Given the description of an element on the screen output the (x, y) to click on. 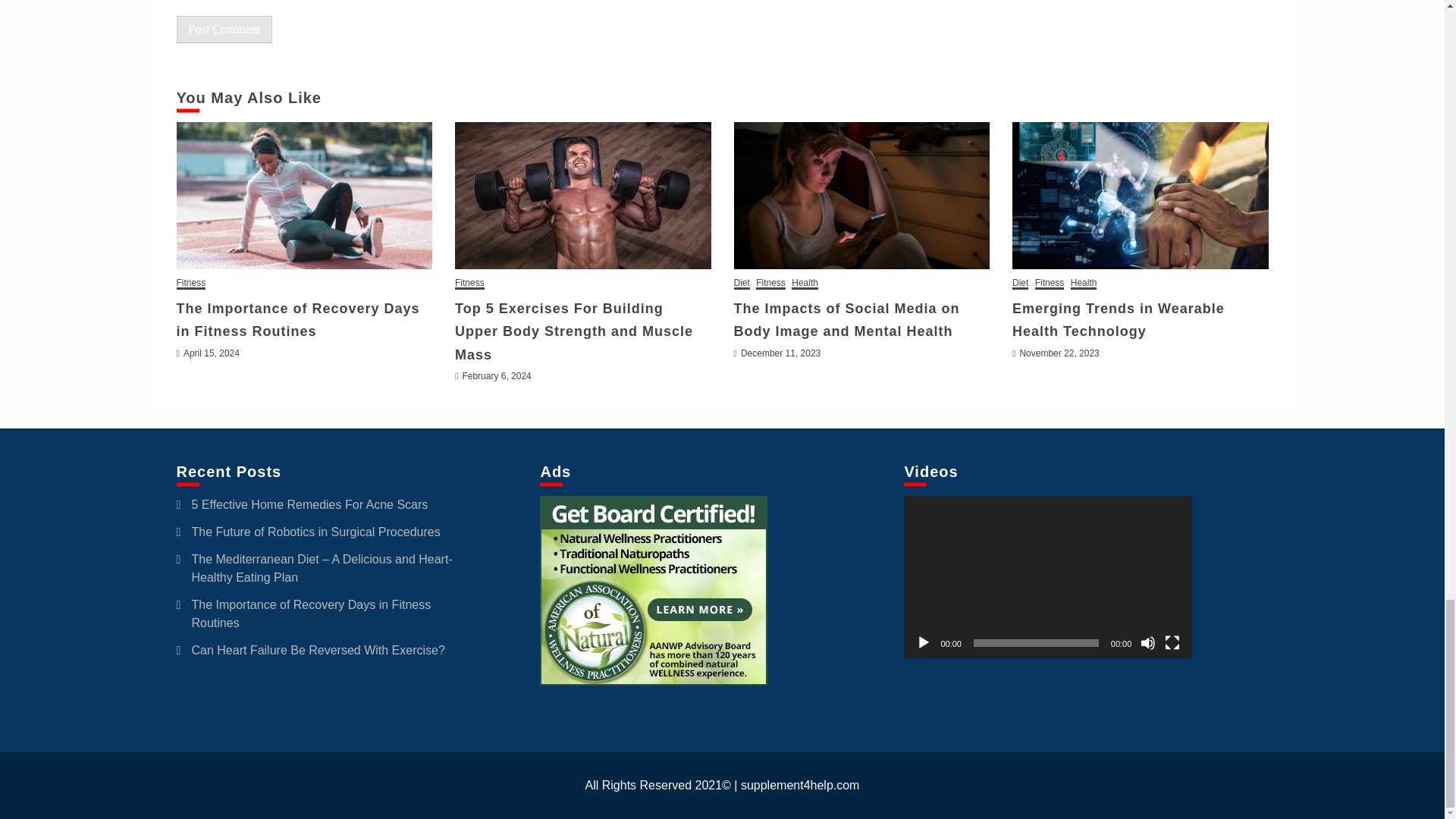
Post Comment (224, 29)
Fullscreen (1171, 642)
Post Comment (224, 29)
Mute (1148, 642)
Play (923, 642)
